Given the description of an element on the screen output the (x, y) to click on. 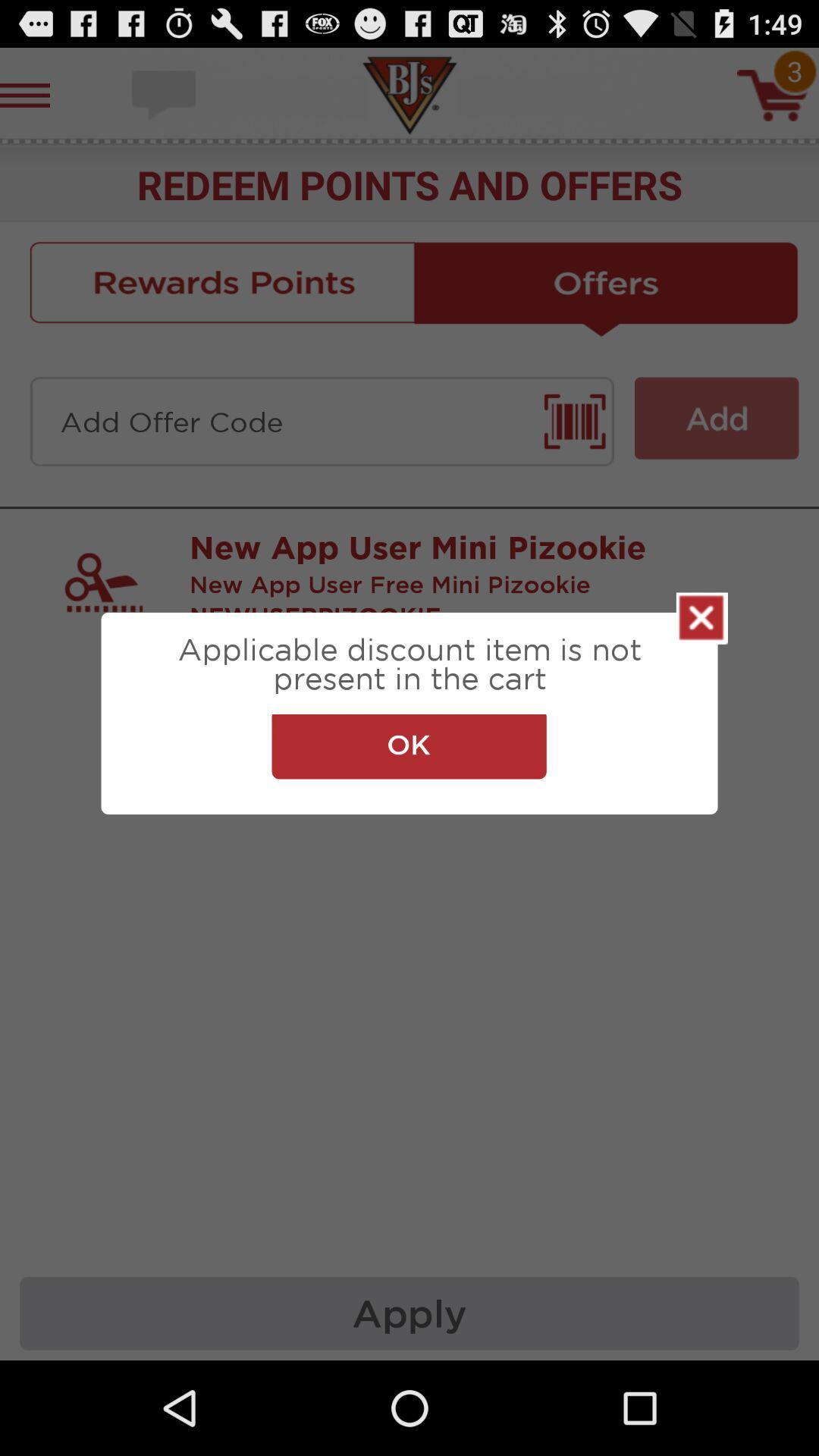
turn on the icon on the right (702, 618)
